Given the description of an element on the screen output the (x, y) to click on. 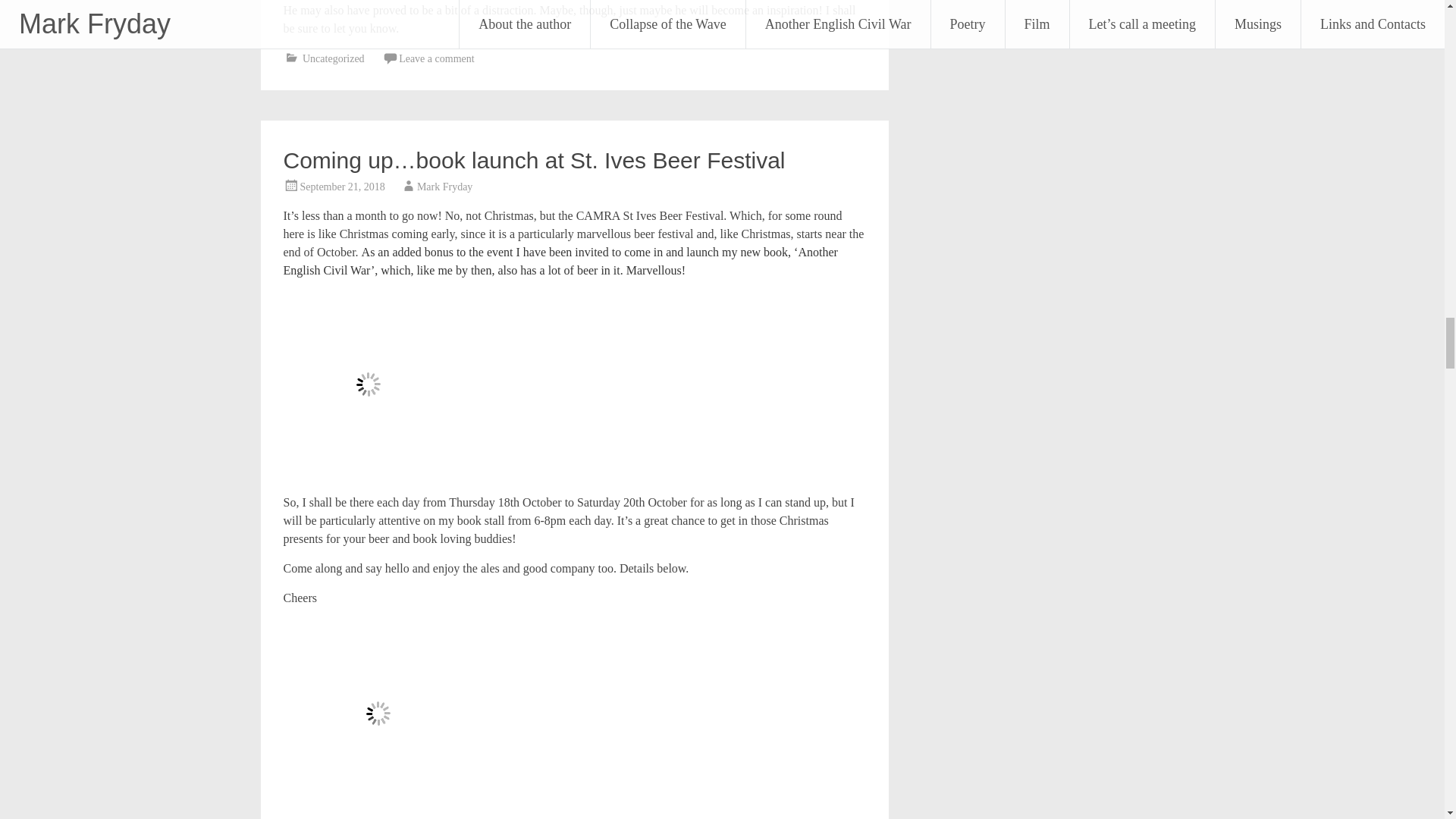
Leave a comment (436, 58)
Mark Fryday (444, 186)
September 21, 2018 (342, 186)
Uncategorized (333, 58)
